Given the description of an element on the screen output the (x, y) to click on. 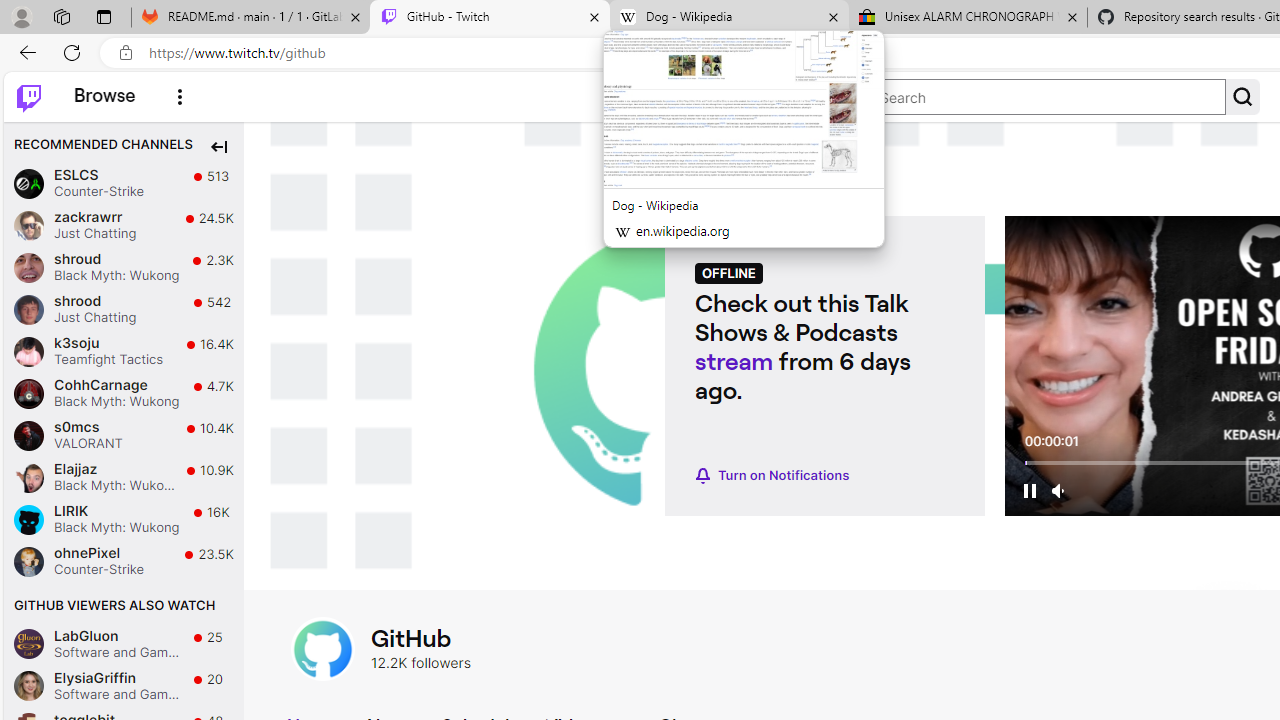
GitHub - Twitch (490, 17)
k3soju k3soju Teamfight Tactics Live 16.4K viewers (123, 350)
Turn on Notifications (772, 475)
